Given the description of an element on the screen output the (x, y) to click on. 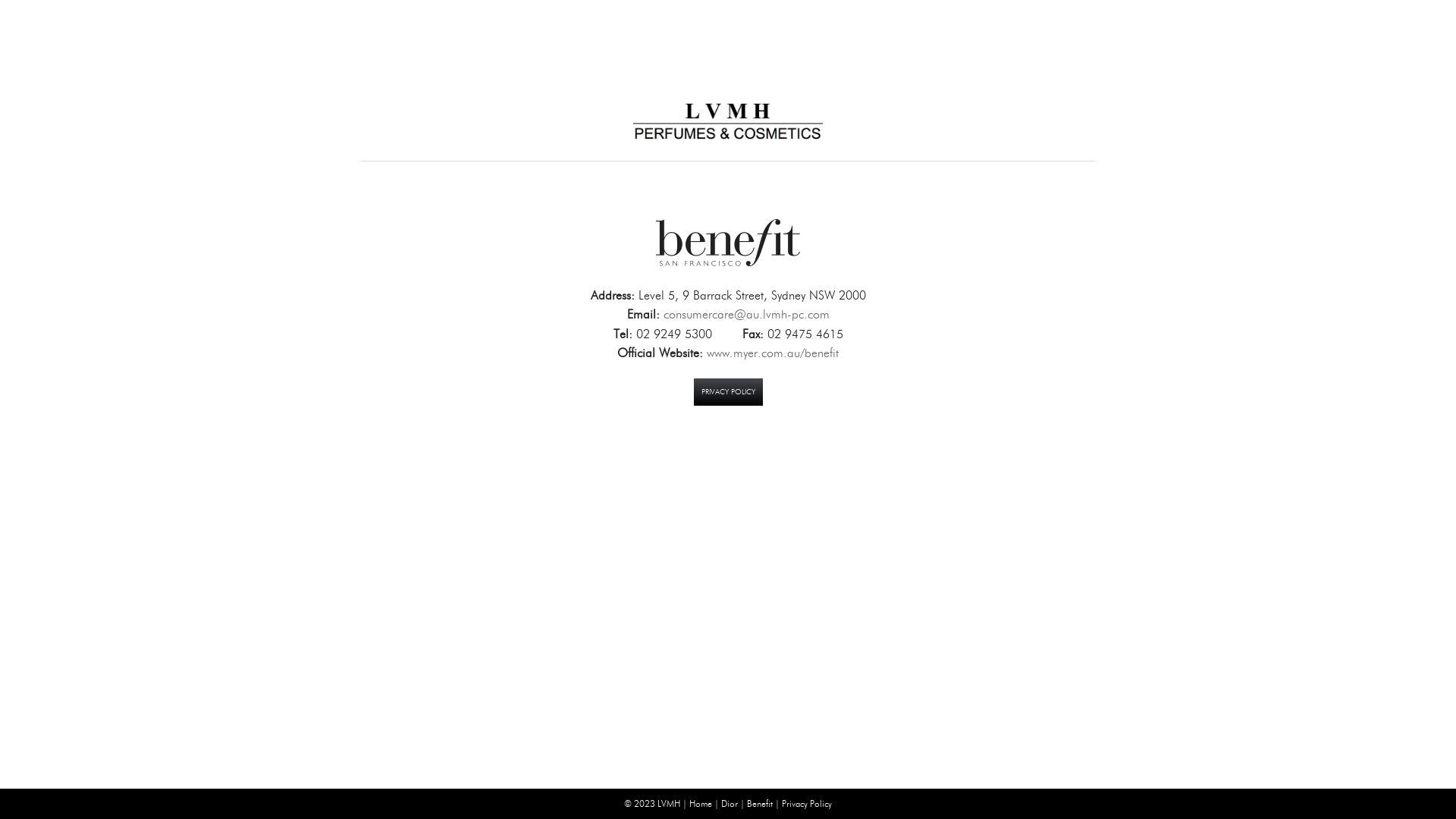
Dior Element type: text (729, 803)
Benefit Element type: text (759, 803)
www.myer.com.au/benefit Element type: text (772, 352)
Home Element type: text (700, 803)
Benefit Element type: hover (727, 242)
PRIVACY POLICY Element type: text (727, 391)
consumercare@au.lvmh-pc.com Element type: text (745, 314)
Privacy Policy Element type: text (806, 803)
